Given the description of an element on the screen output the (x, y) to click on. 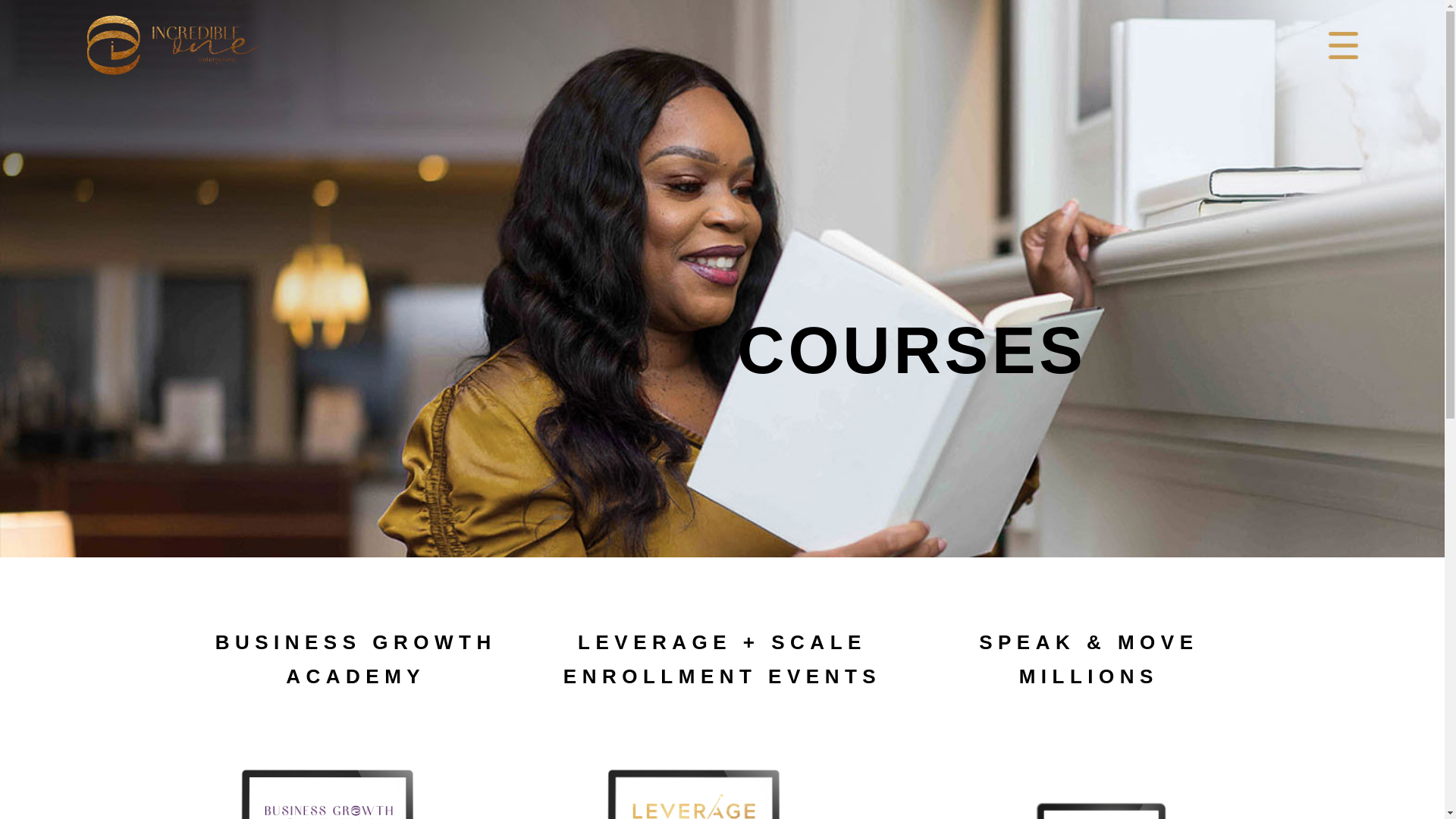
BUSINESS GROWTH ACADEMY (355, 658)
